Given the description of an element on the screen output the (x, y) to click on. 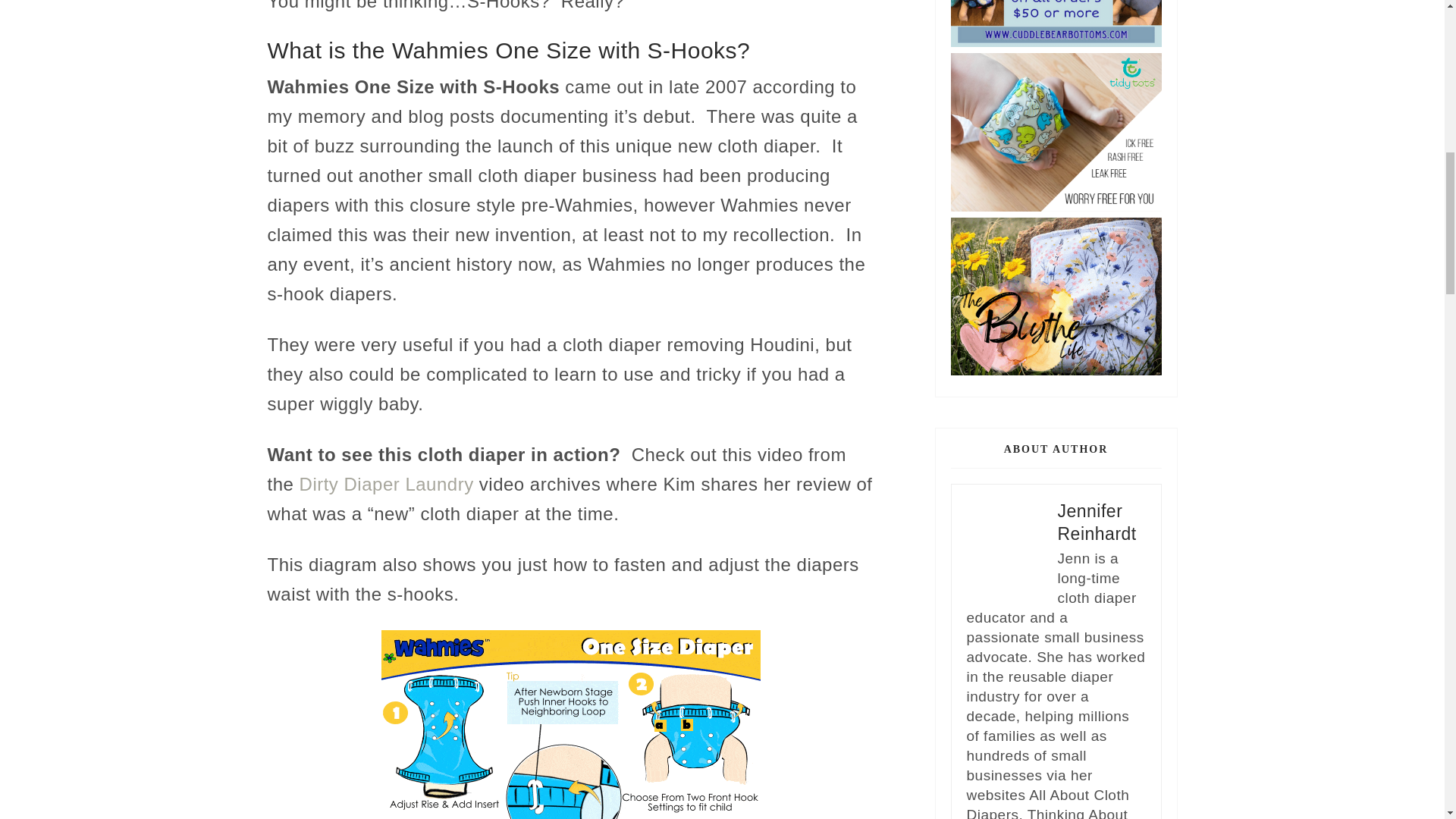
Jennifer Reinhardt (1096, 522)
Dirty Diaper Laundry (383, 484)
